Given the description of an element on the screen output the (x, y) to click on. 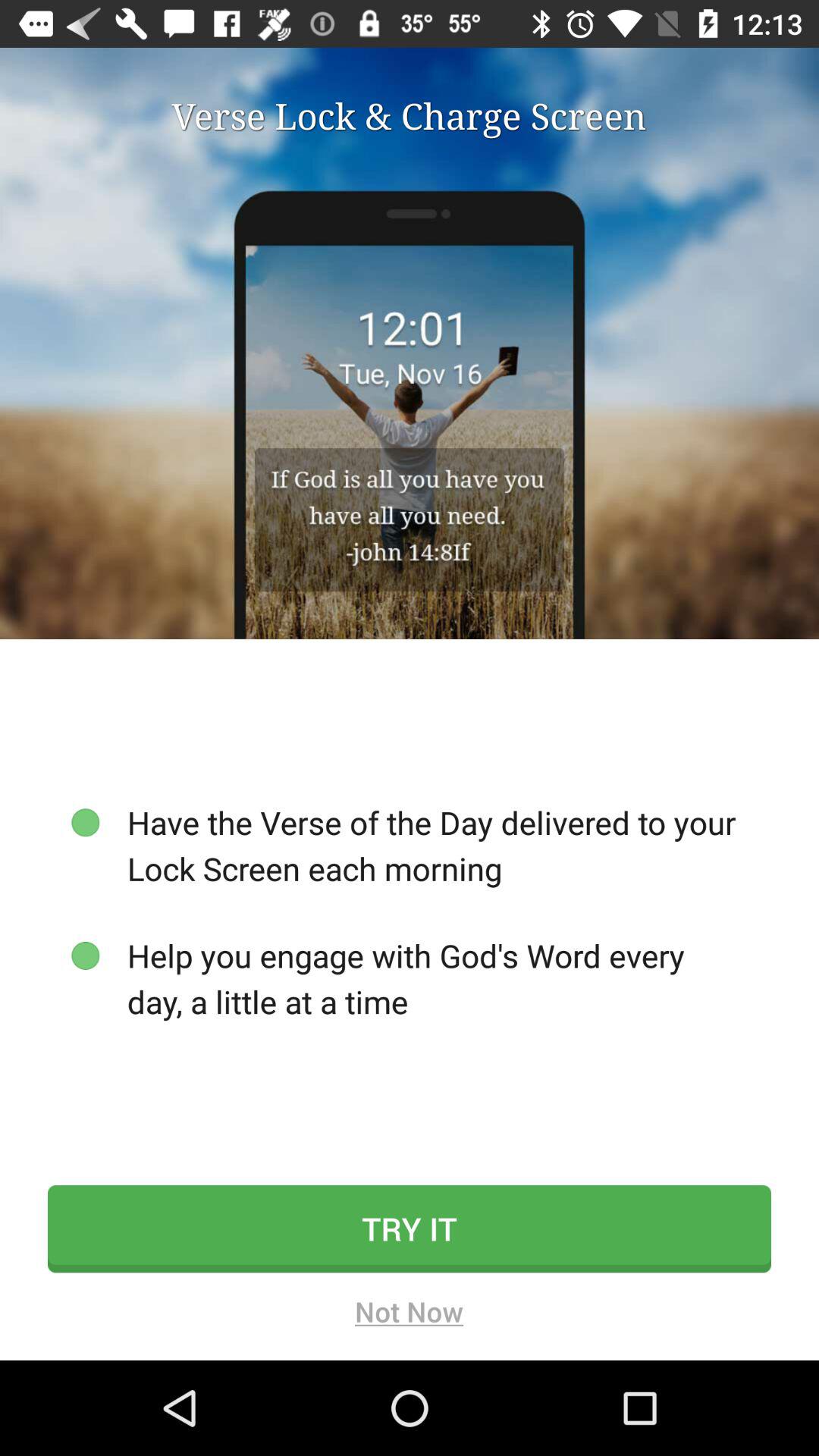
turn on the item below try it (408, 1316)
